Given the description of an element on the screen output the (x, y) to click on. 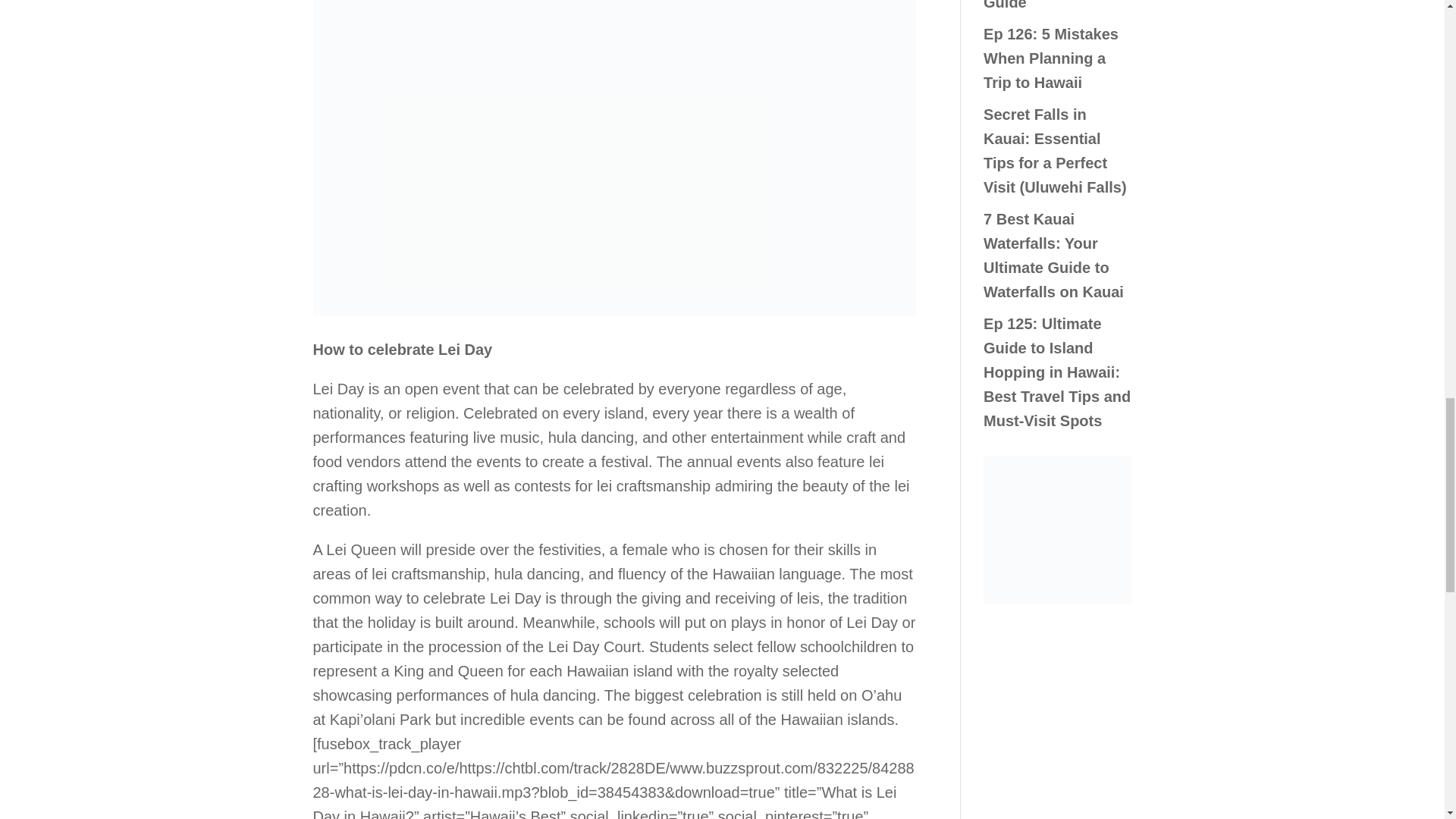
Ep 126: 5 Mistakes When Planning a Trip to Hawaii (1051, 57)
Top 5 Big Island Waterfalls: A Comprehensive Guide (1041, 5)
